Given the description of an element on the screen output the (x, y) to click on. 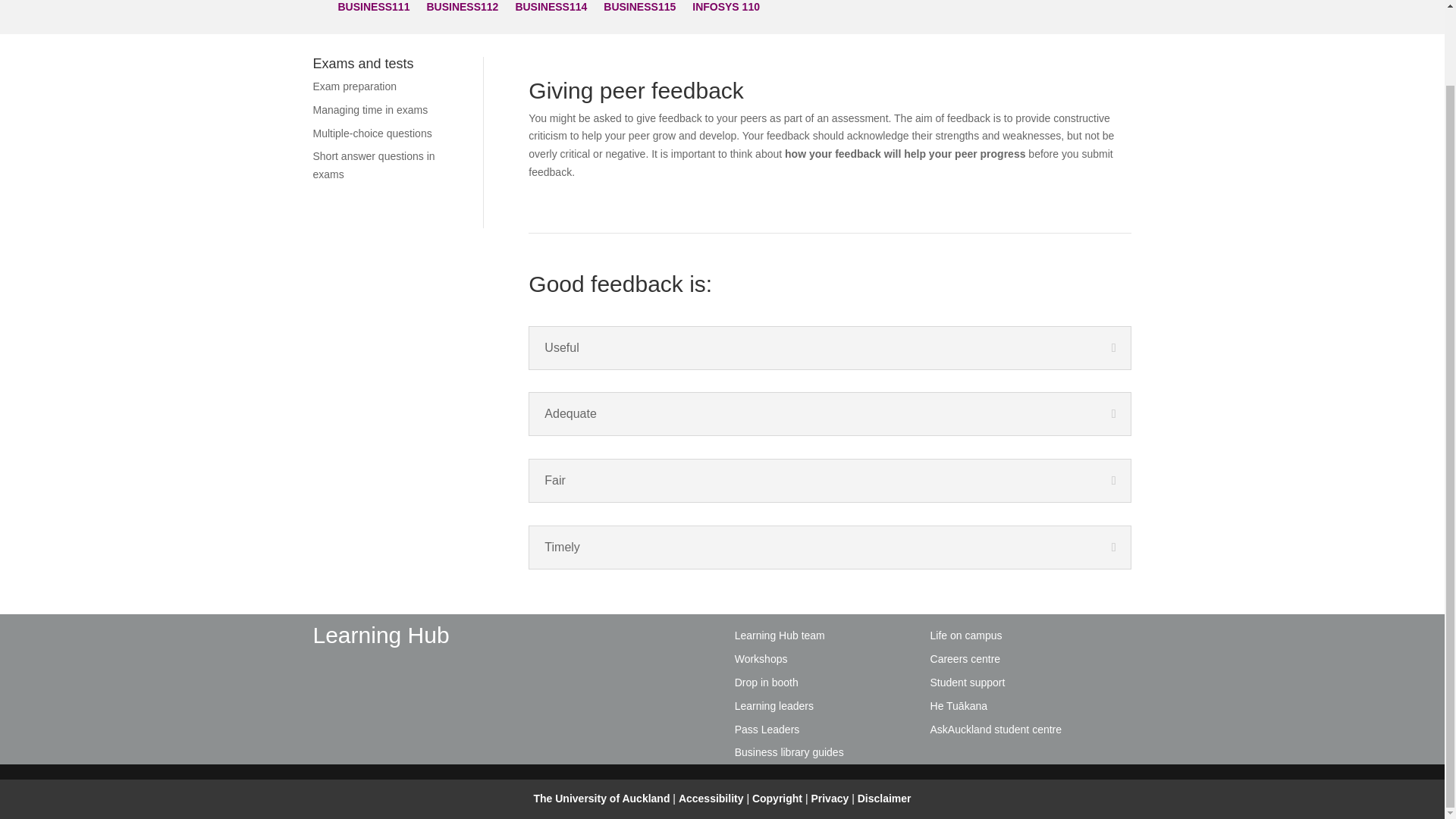
Life on campus (966, 635)
Careers centre (965, 658)
AskAuckland student centre (996, 729)
Student Support (968, 682)
